Given the description of an element on the screen output the (x, y) to click on. 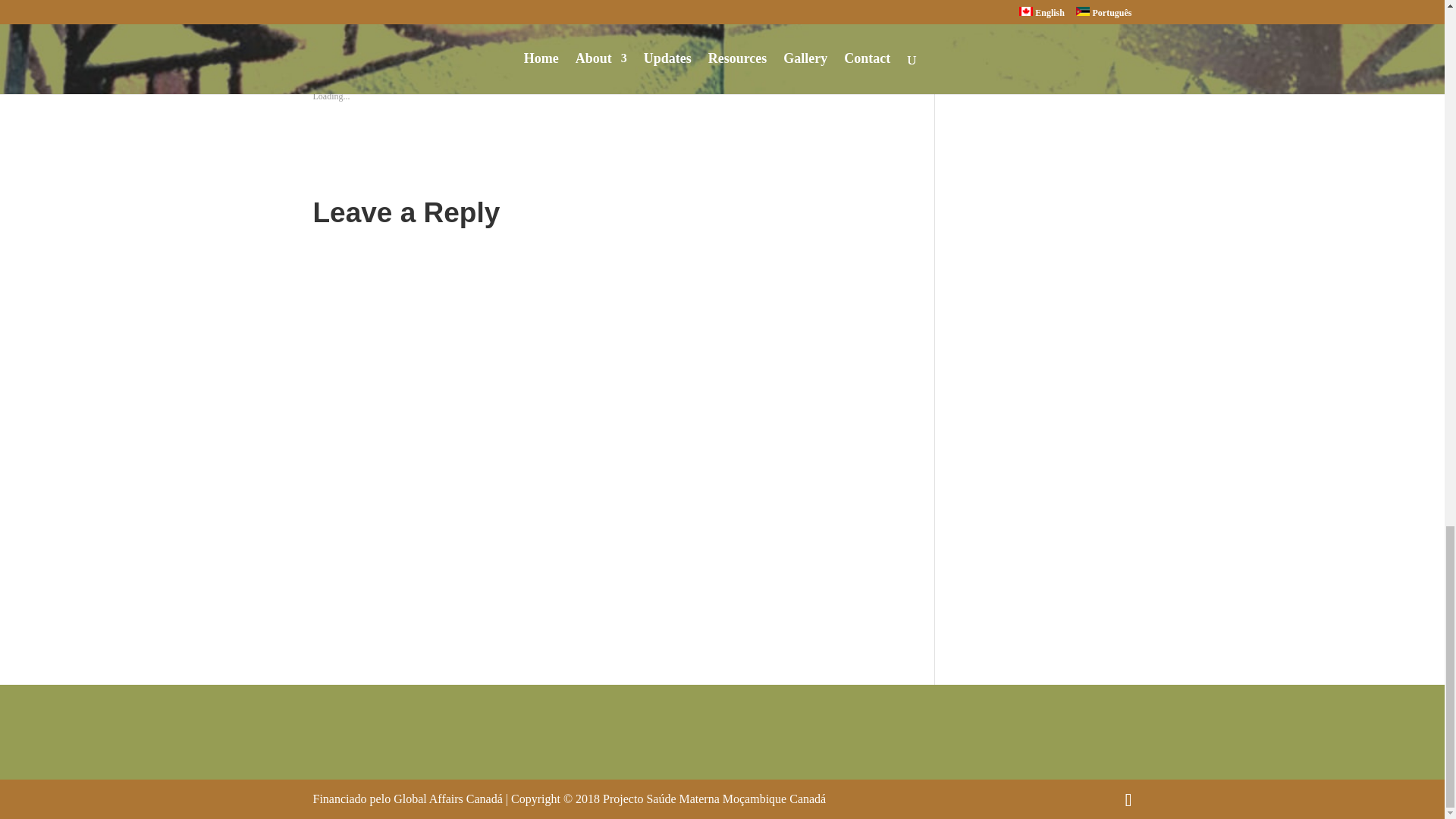
Click to share on Twitter (324, 15)
Click to share on Facebook (354, 15)
